Given the description of an element on the screen output the (x, y) to click on. 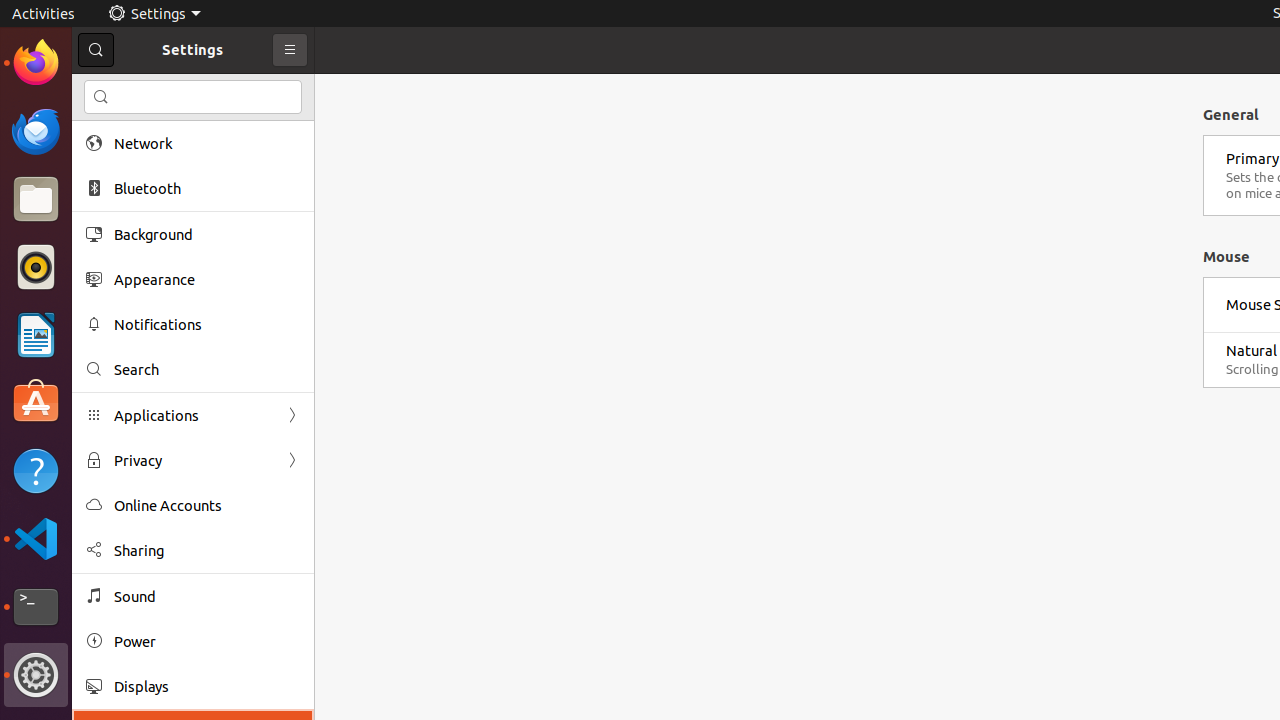
IsaHelpMain.desktop Element type: label (133, 300)
Appearance Element type: label (207, 279)
li.txt Element type: label (259, 89)
Sound Element type: label (207, 596)
